Given the description of an element on the screen output the (x, y) to click on. 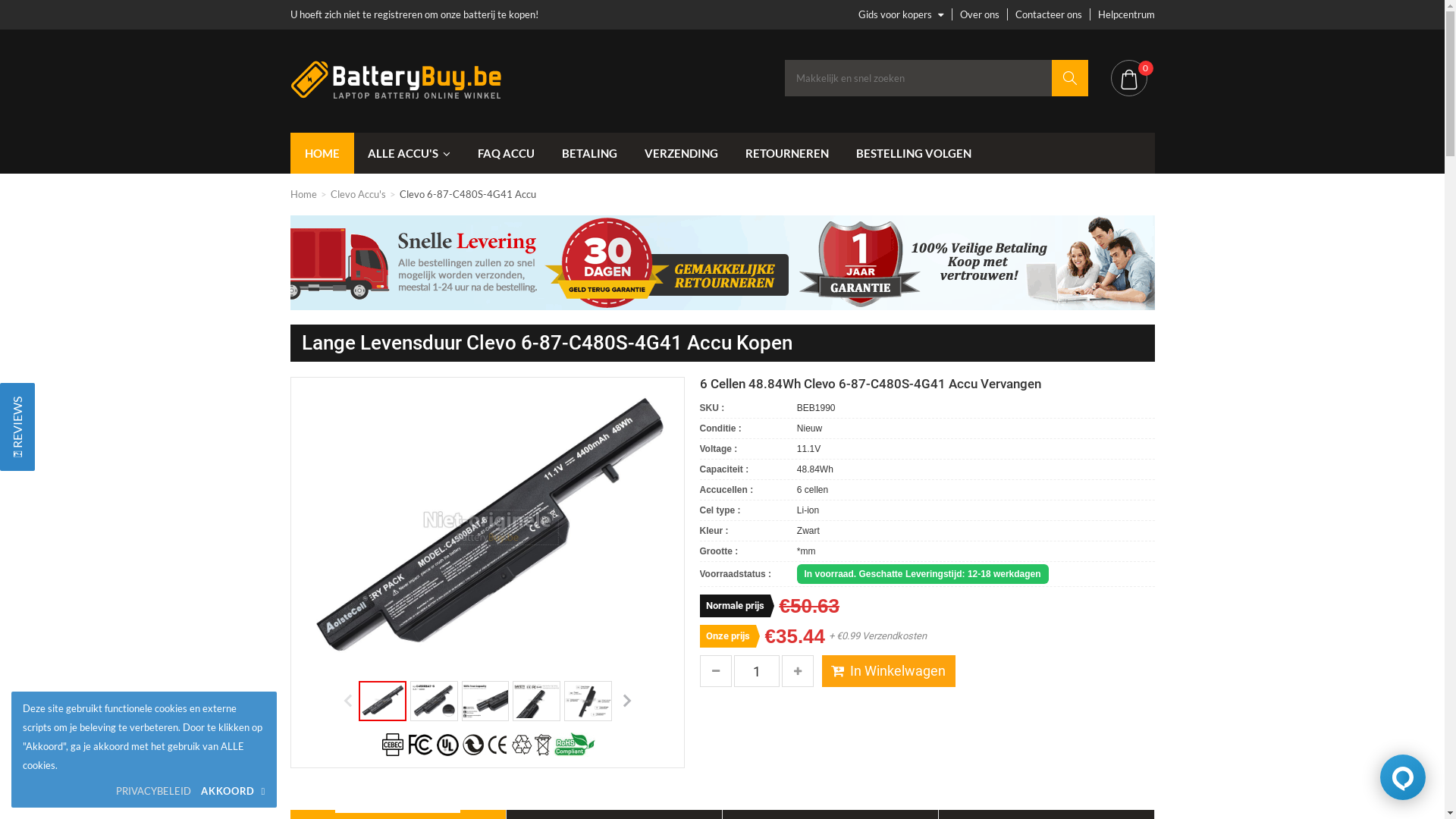
Home Element type: text (302, 194)
PRIVACYBELEID Element type: text (153, 791)
0 Element type: text (1128, 77)
ALLE ACCU'S Element type: text (408, 152)
HOME Element type: text (321, 152)
VERZENDING Element type: text (680, 152)
In Winkelwagen Element type: text (888, 671)
BESTELLING VOLGEN Element type: text (912, 152)
Helpcentrum Element type: text (1126, 14)
RETOURNEREN Element type: text (786, 152)
Contacteer ons Element type: text (1047, 14)
BETALING Element type: text (588, 152)
Over ons Element type: text (979, 14)
Clevo Accu'S Element type: text (357, 194)
Gids voor kopers Element type: text (901, 14)
FAQ ACCU Element type: text (506, 152)
